Given the description of an element on the screen output the (x, y) to click on. 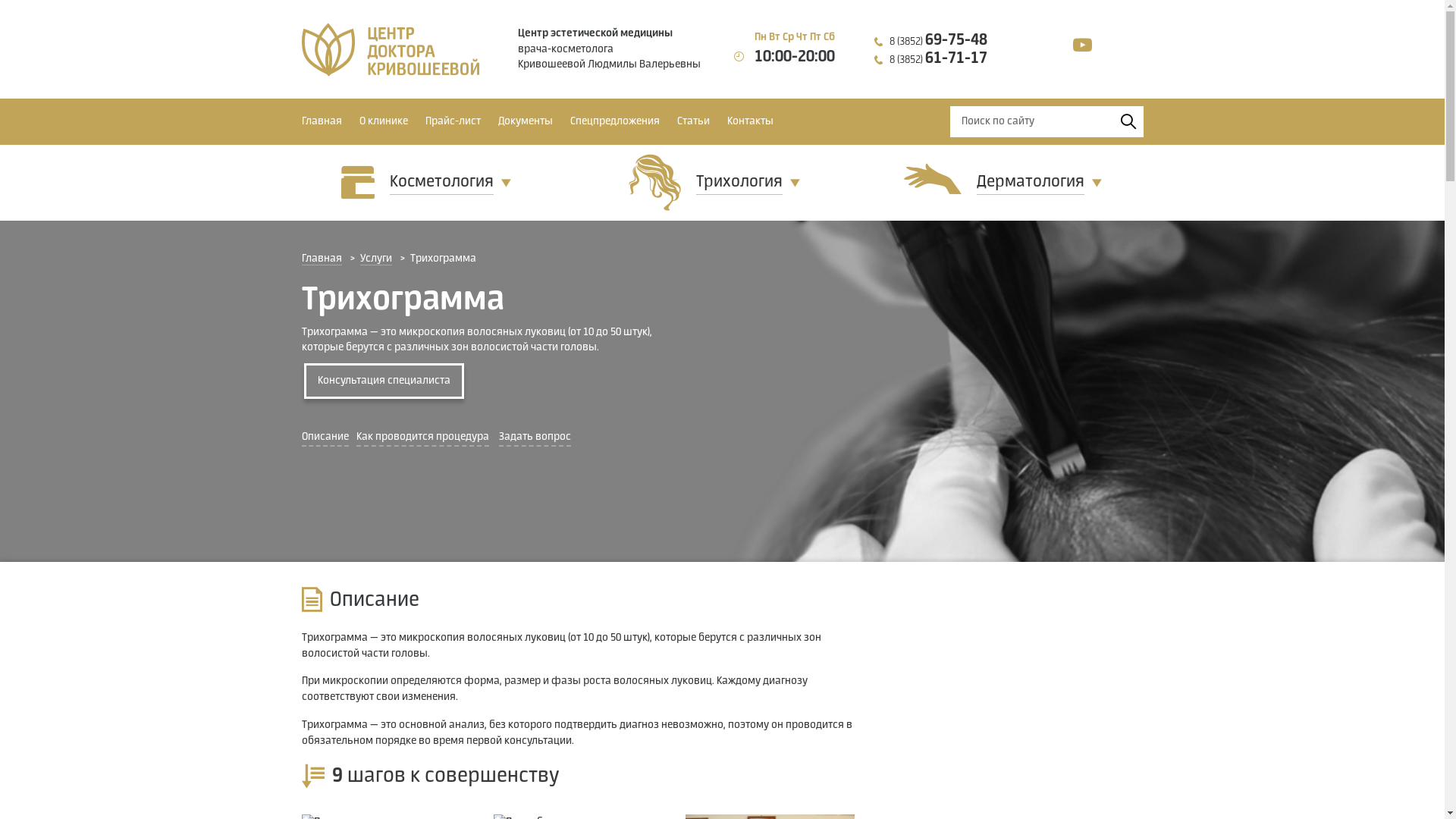
8 (3852) 69-75-48 Element type: text (938, 41)
8 (3852) 61-71-17 Element type: text (938, 59)
